Given the description of an element on the screen output the (x, y) to click on. 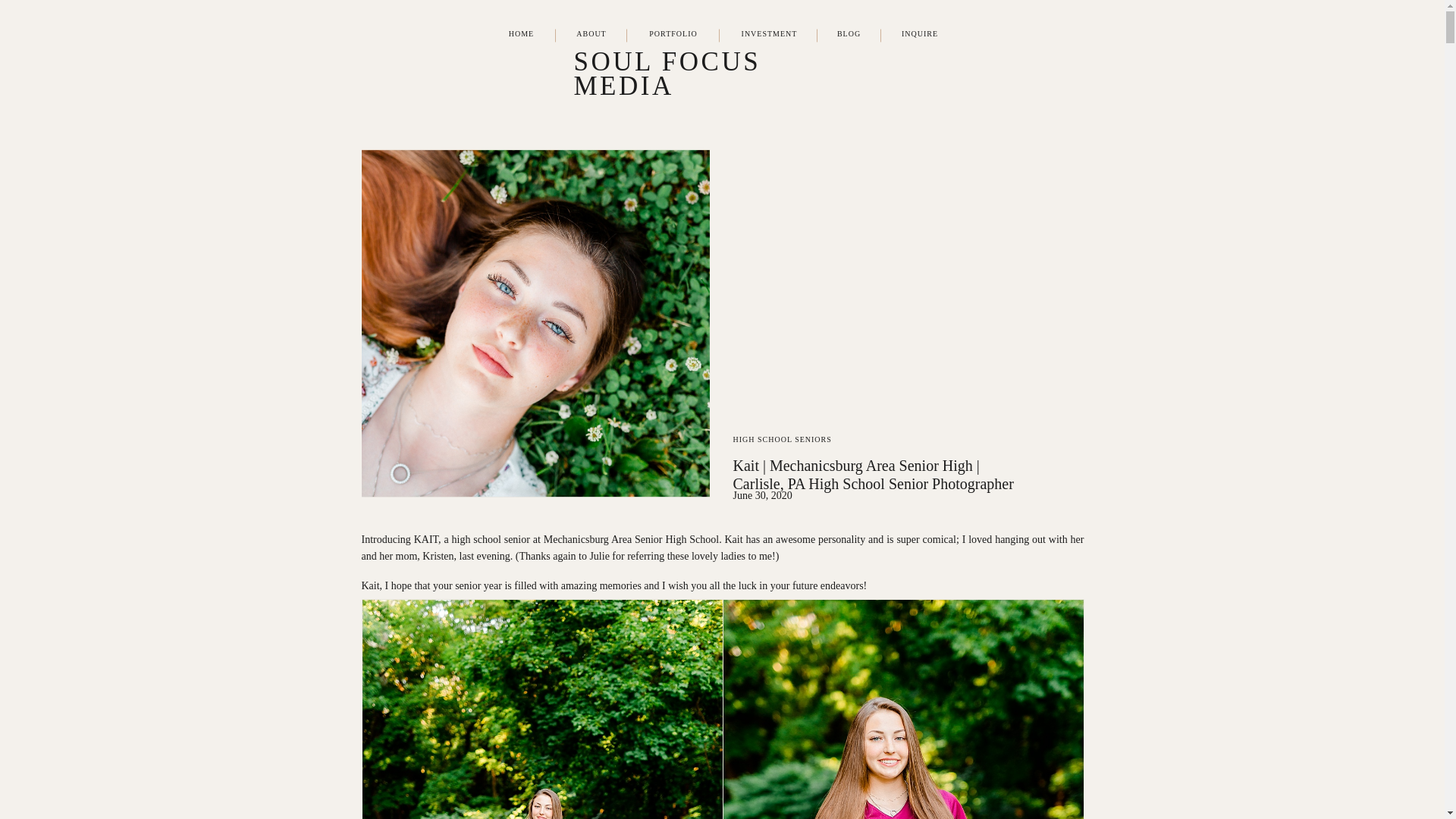
INVESTMENT (769, 34)
HOME (521, 34)
PORTFOLIO (673, 34)
BLOG (847, 34)
INQUIRE (919, 34)
ABOUT (591, 34)
HIGH SCHOOL SENIORS (781, 438)
SOUL FOCUS MEDIA (721, 64)
